Given the description of an element on the screen output the (x, y) to click on. 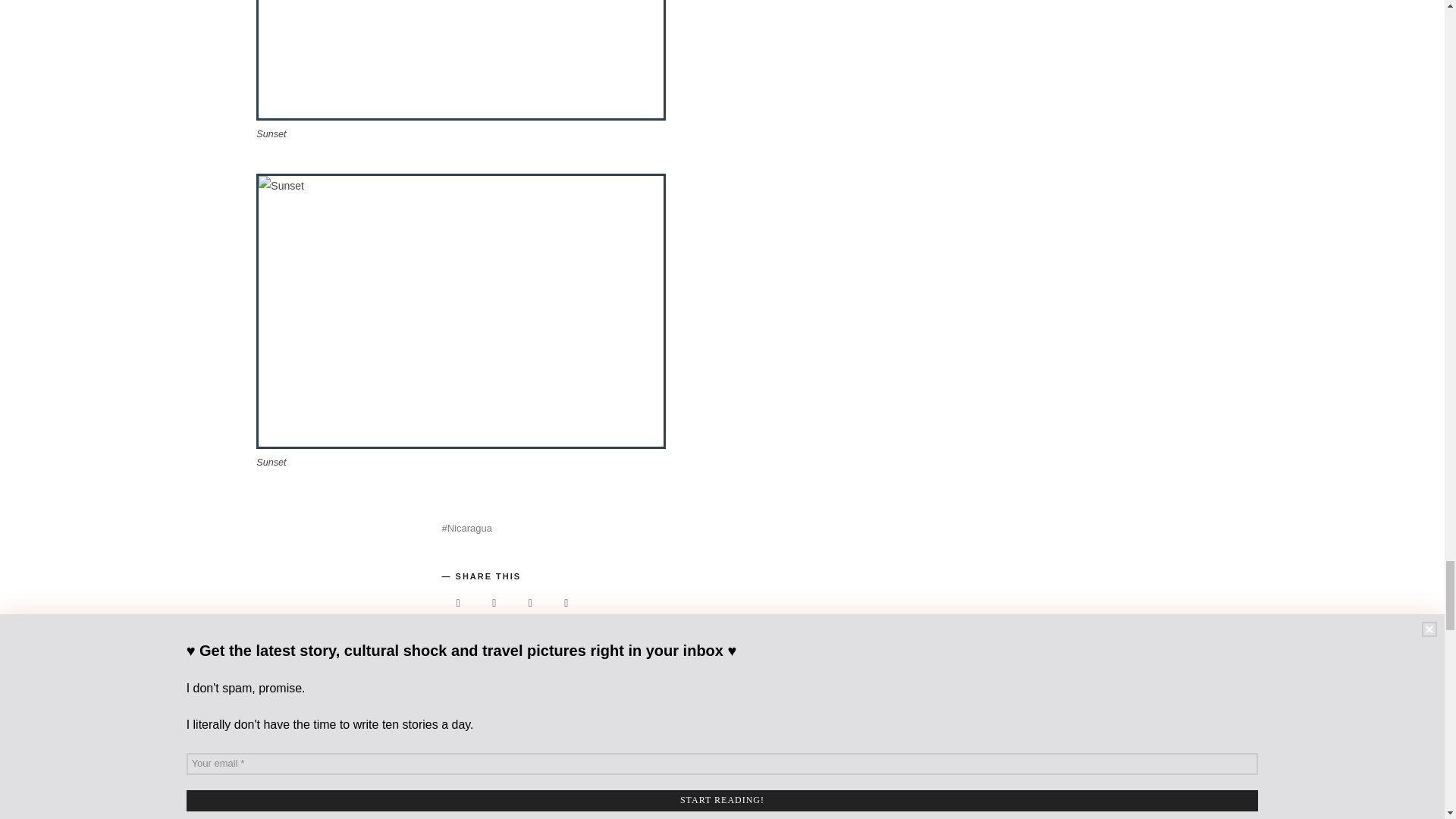
Share this post on Facebook (457, 603)
Tweet this post to your followers (494, 603)
Email this post to a friend (566, 603)
Pin it (530, 603)
